Given the description of an element on the screen output the (x, y) to click on. 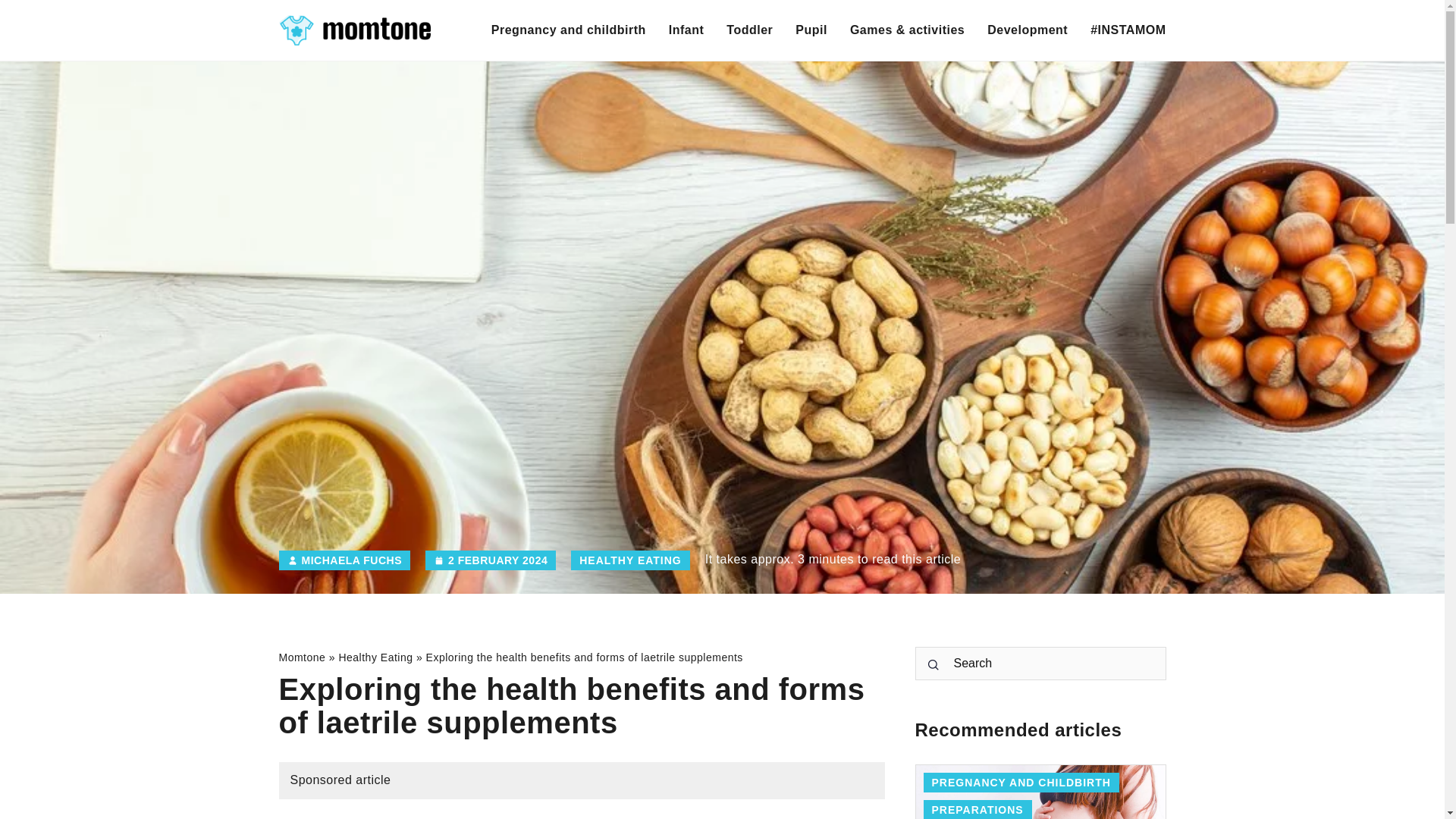
Infant (686, 29)
Pupil (810, 29)
MICHAELA FUCHS (351, 560)
Toddler (749, 29)
Pregnancy and childbirth (569, 29)
HEALTHY EATING (630, 560)
Development (1027, 29)
